Given the description of an element on the screen output the (x, y) to click on. 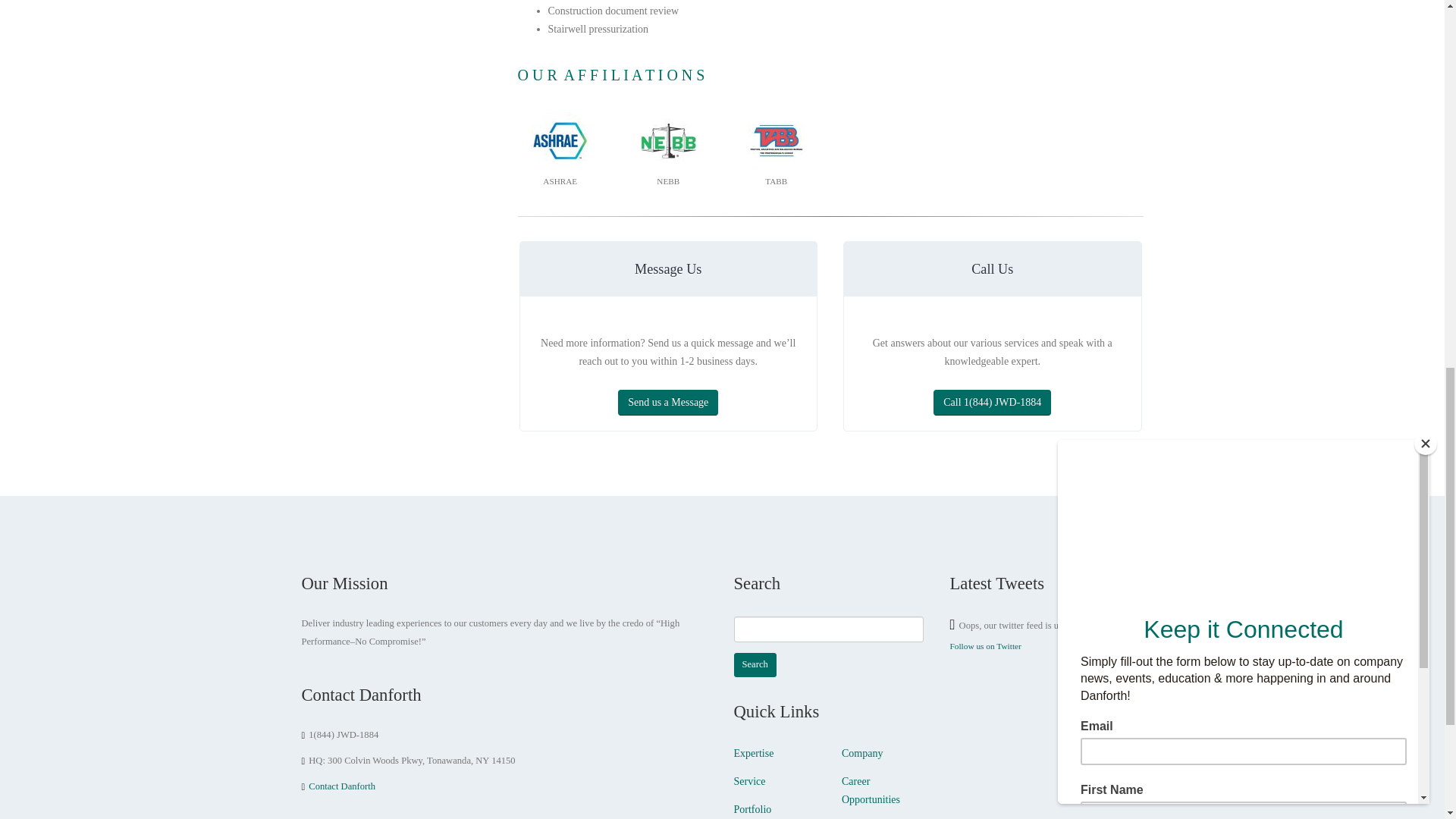
NEBB-Logo (668, 140)
TABB-Logo (776, 140)
ASHRAE-Logo (559, 140)
Search (754, 664)
